Given the description of an element on the screen output the (x, y) to click on. 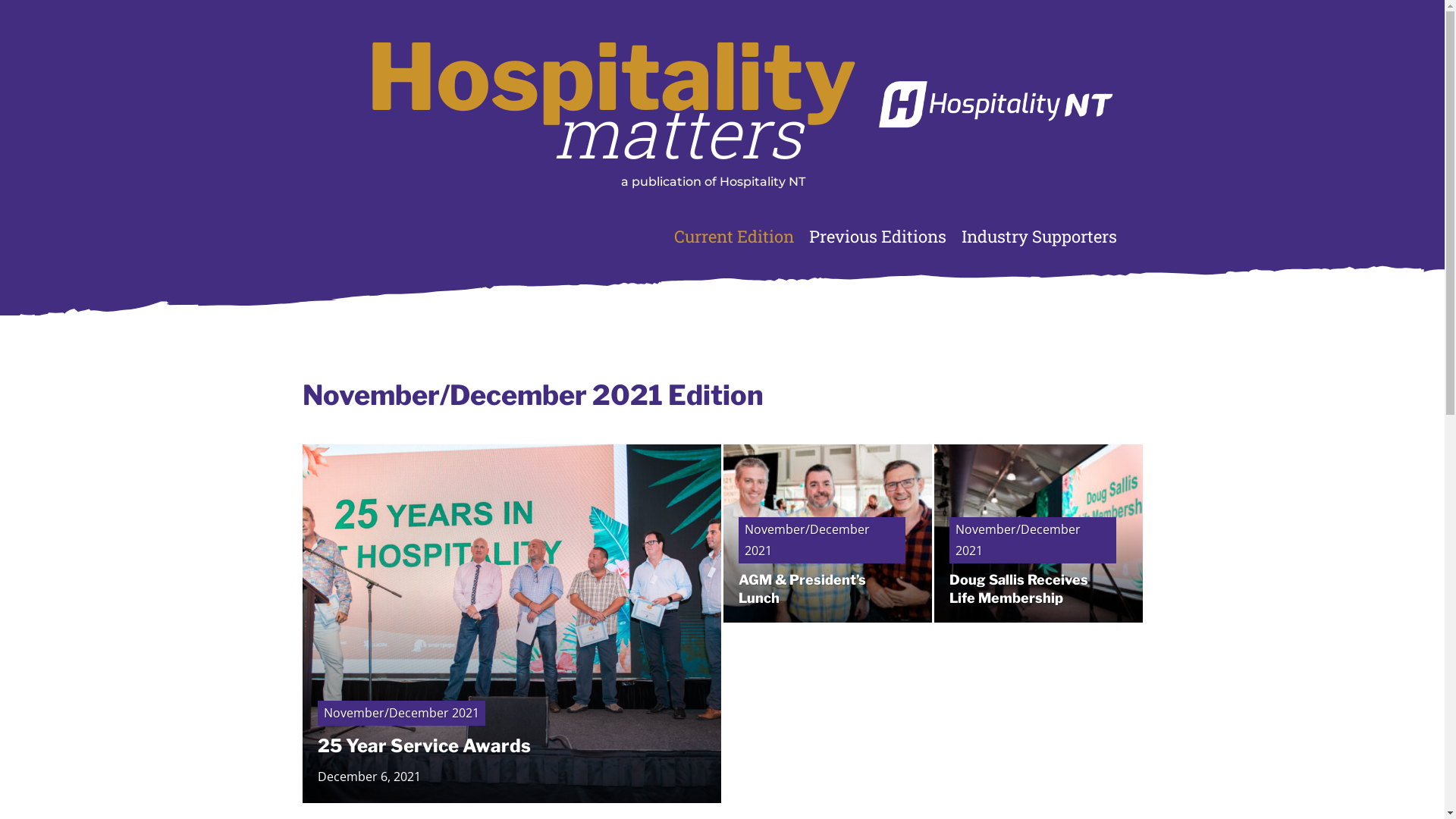
matters Element type: text (677, 131)
menu_logo Element type: hover (994, 100)
Hospitality Element type: text (611, 76)
Industry Supporters Element type: text (1038, 236)
Doug Sallis Receives Life Membership Element type: text (1018, 588)
25 Year Service Awards Element type: text (423, 745)
Previous Editions Element type: text (876, 236)
Current Edition Element type: text (732, 236)
